Given the description of an element on the screen output the (x, y) to click on. 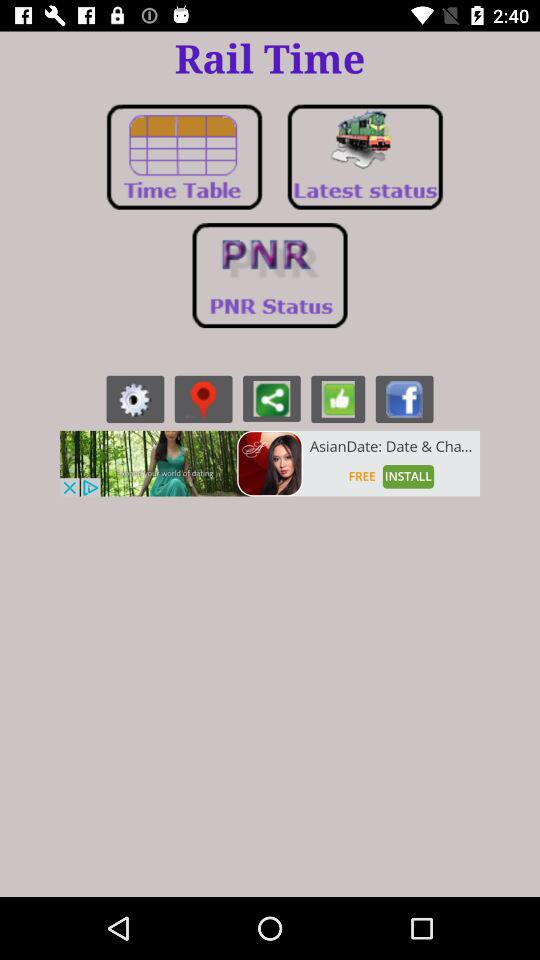
click dating advertisement (270, 463)
